Given the description of an element on the screen output the (x, y) to click on. 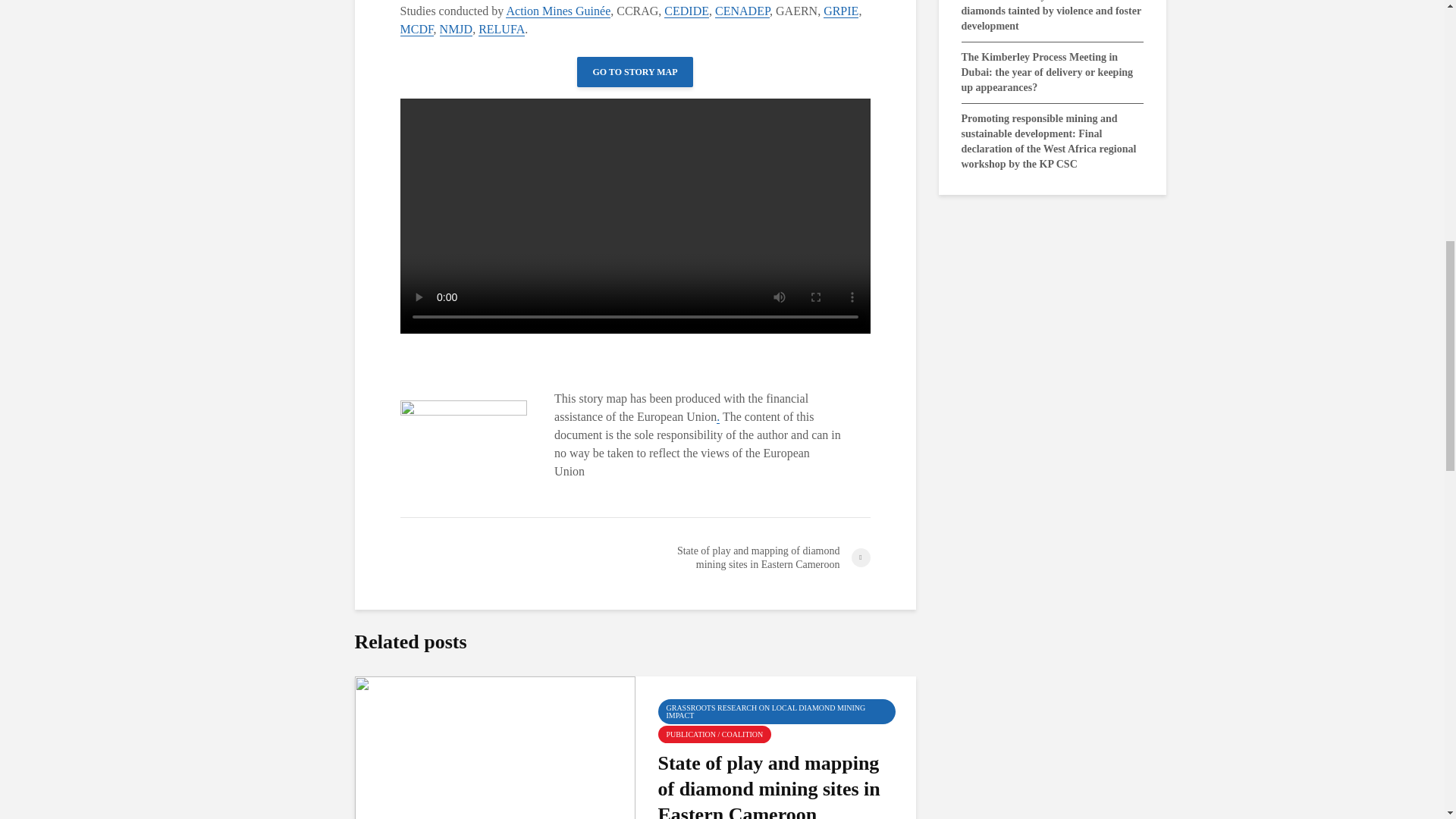
CENADEP (742, 11)
MCDF (416, 29)
GRPIE (841, 11)
NMJD (456, 29)
CEDIDE (686, 11)
